Given the description of an element on the screen output the (x, y) to click on. 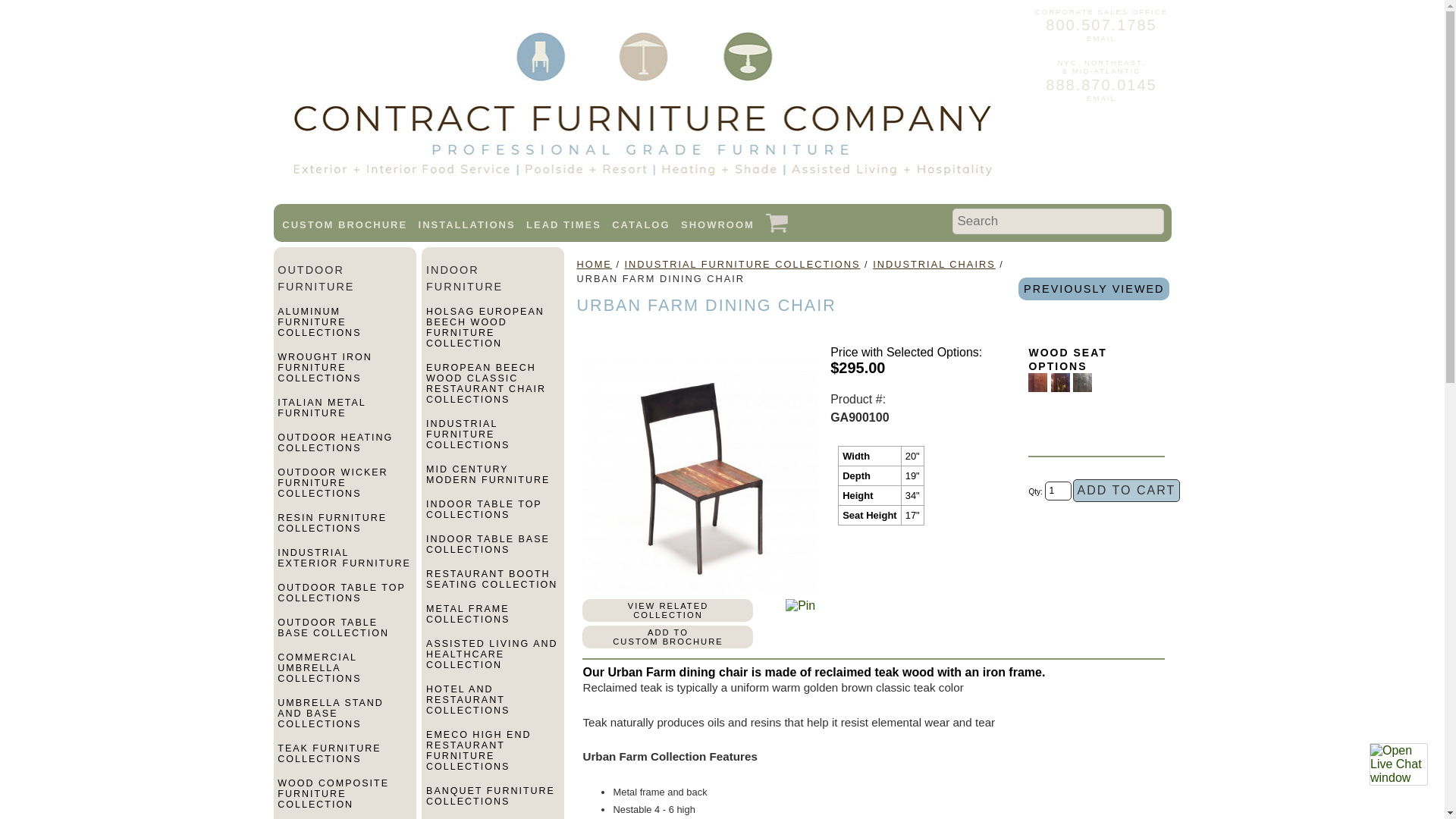
LEAD TIMES (563, 224)
TEAK FURNITURE COLLECTIONS (345, 759)
INDOOR TABLE BASE COLLECTIONS (493, 550)
Browse Italian Metal Furniture (345, 414)
Browse Industrial Exterior Furniture (345, 564)
Find a showroom (717, 224)
RESTAURANT BOOTH SEATING COLLECTION (493, 585)
EMAIL (1101, 38)
Browse Umbrella Stand and Base Collections (345, 719)
Browse Aluminum Furniture Collections (345, 328)
INDUSTRIAL EXTERIOR FURNITURE (345, 564)
OUTDOOR TABLE TOP COLLECTIONS (345, 599)
OUTDOOR HEATING COLLECTIONS (345, 449)
CATALOG (640, 224)
Add to Cart (1126, 490)
